Given the description of an element on the screen output the (x, y) to click on. 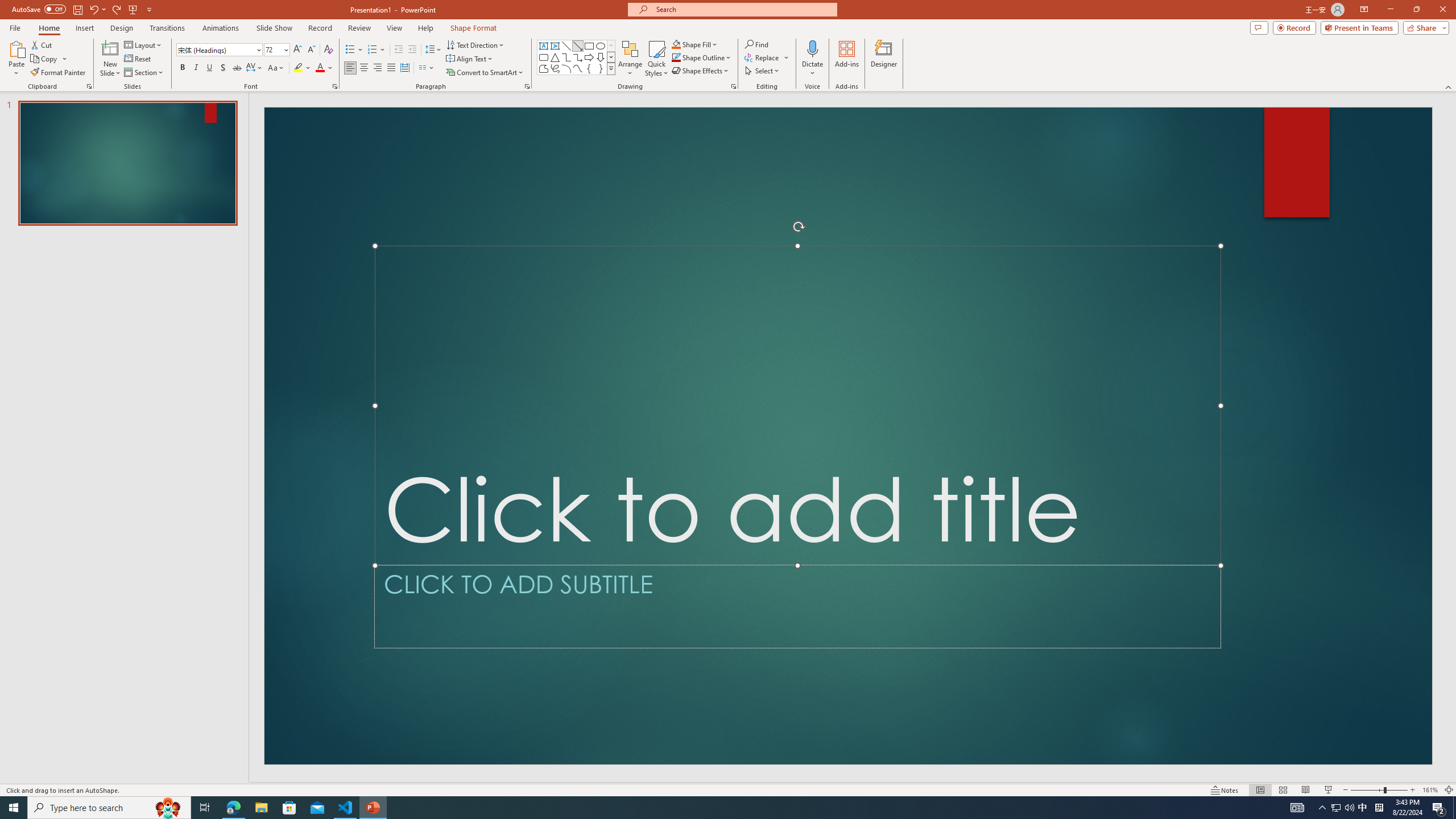
Freeform: Scribble (554, 68)
Numbering (376, 49)
Left Brace (589, 68)
Row Down (611, 56)
Text Highlight Color (302, 67)
Arrow: Right (589, 57)
Text Direction (476, 44)
Center (363, 67)
Text Highlight Color Yellow (297, 67)
Text Box (543, 45)
